Given the description of an element on the screen output the (x, y) to click on. 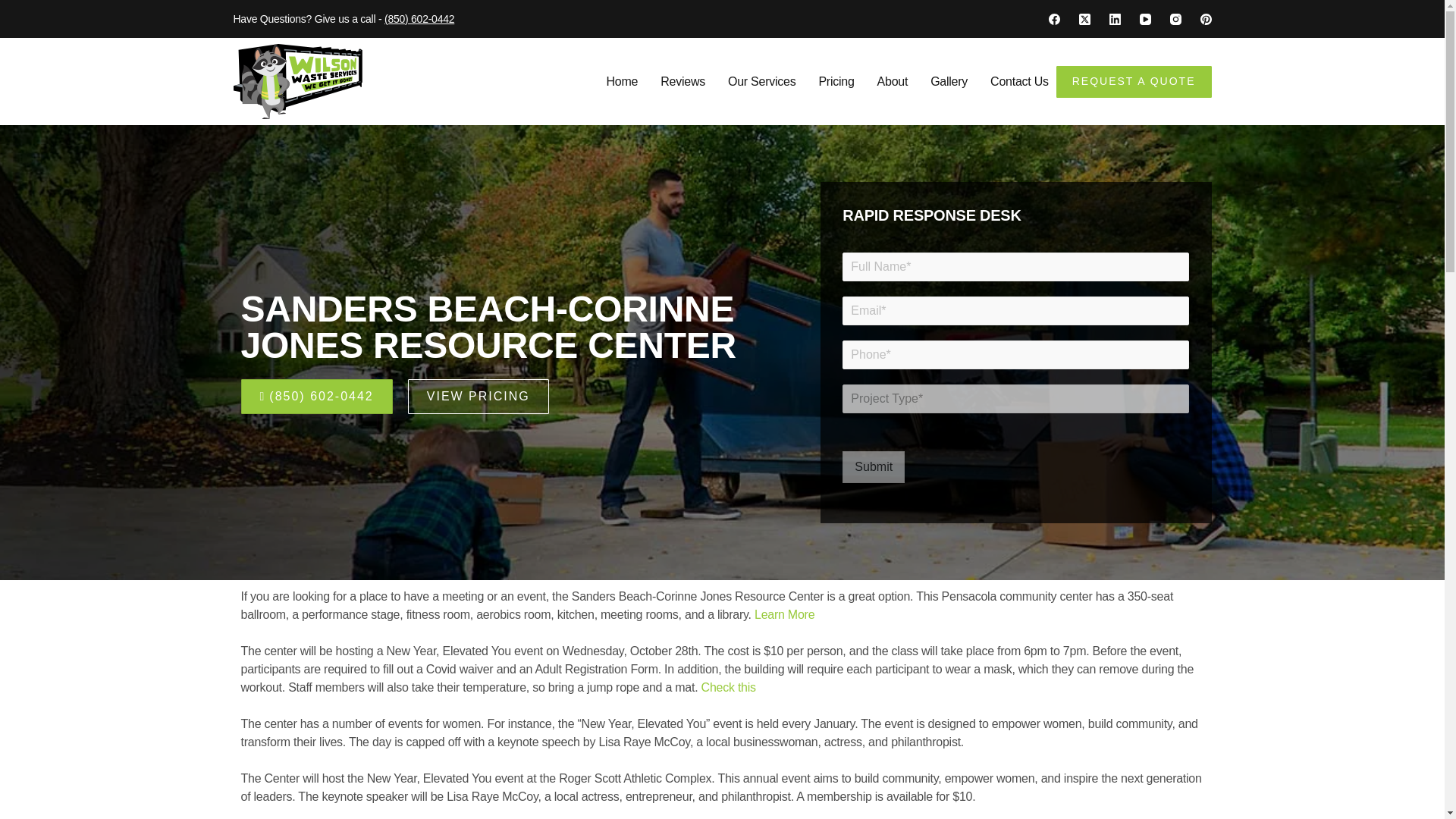
Check this (728, 686)
Our Services (761, 81)
REQUEST A QUOTE (1134, 81)
Skip to content (15, 7)
Learn More (783, 614)
Submit (873, 466)
VIEW PRICING (477, 396)
